Given the description of an element on the screen output the (x, y) to click on. 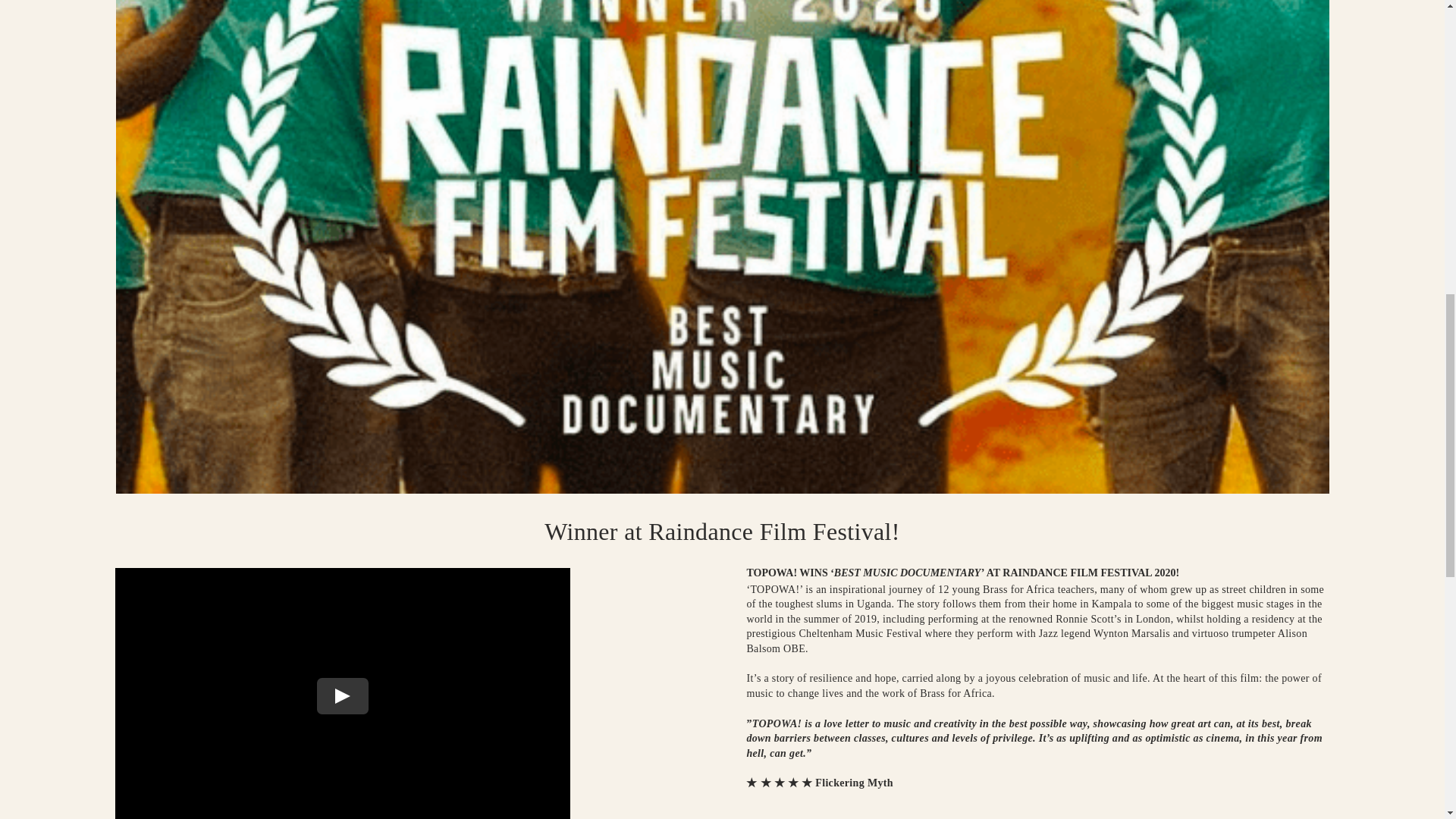
Play (342, 696)
YouTube video player 1 (342, 693)
Flickering Myth (852, 782)
